Given the description of an element on the screen output the (x, y) to click on. 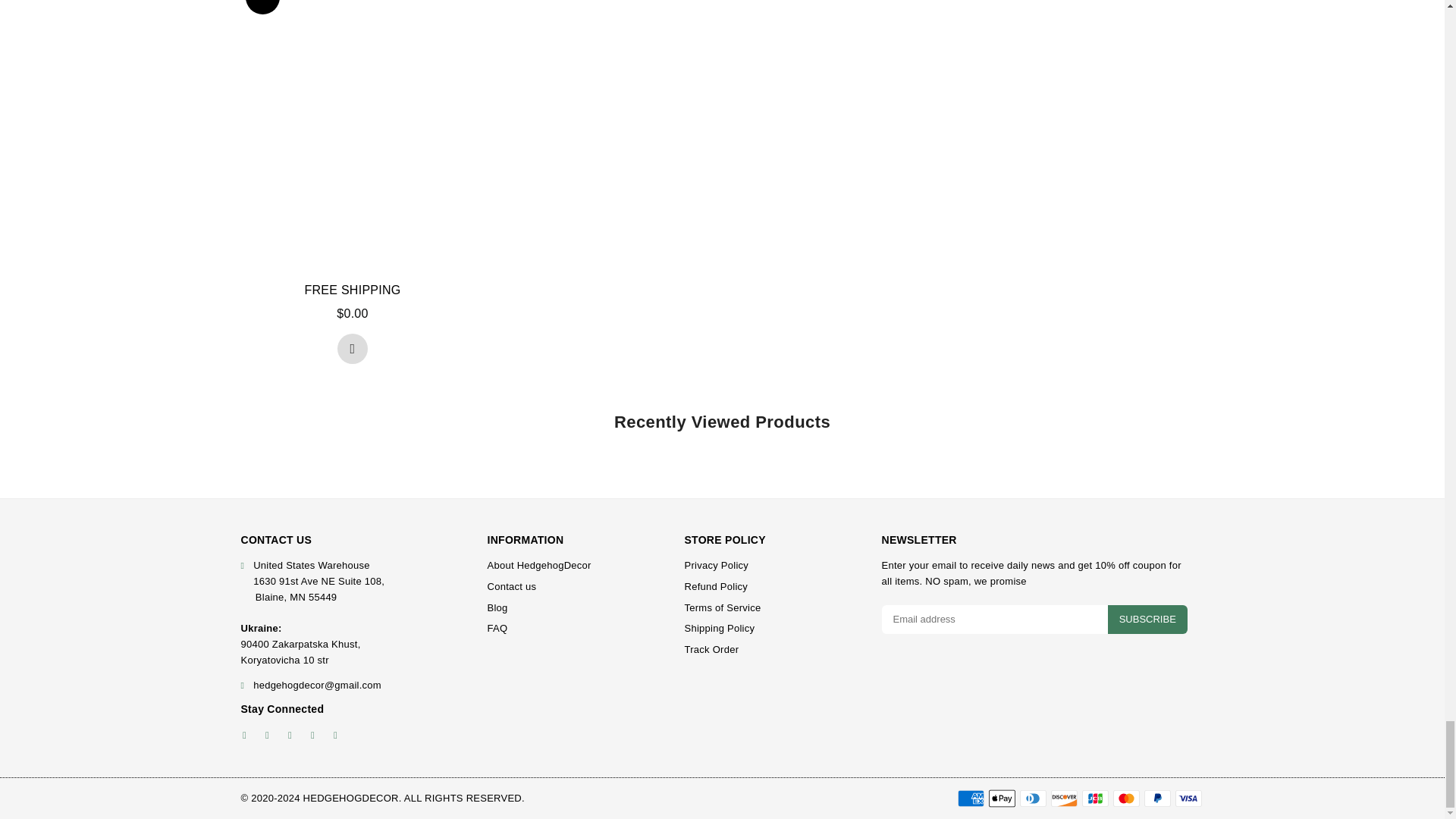
Discover (1064, 798)
Mastercard (1126, 798)
American Express (970, 798)
JCB (1094, 798)
Apple Pay (1001, 798)
Diners Club (1032, 798)
Visa (1188, 798)
PayPal (1156, 798)
